Given the description of an element on the screen output the (x, y) to click on. 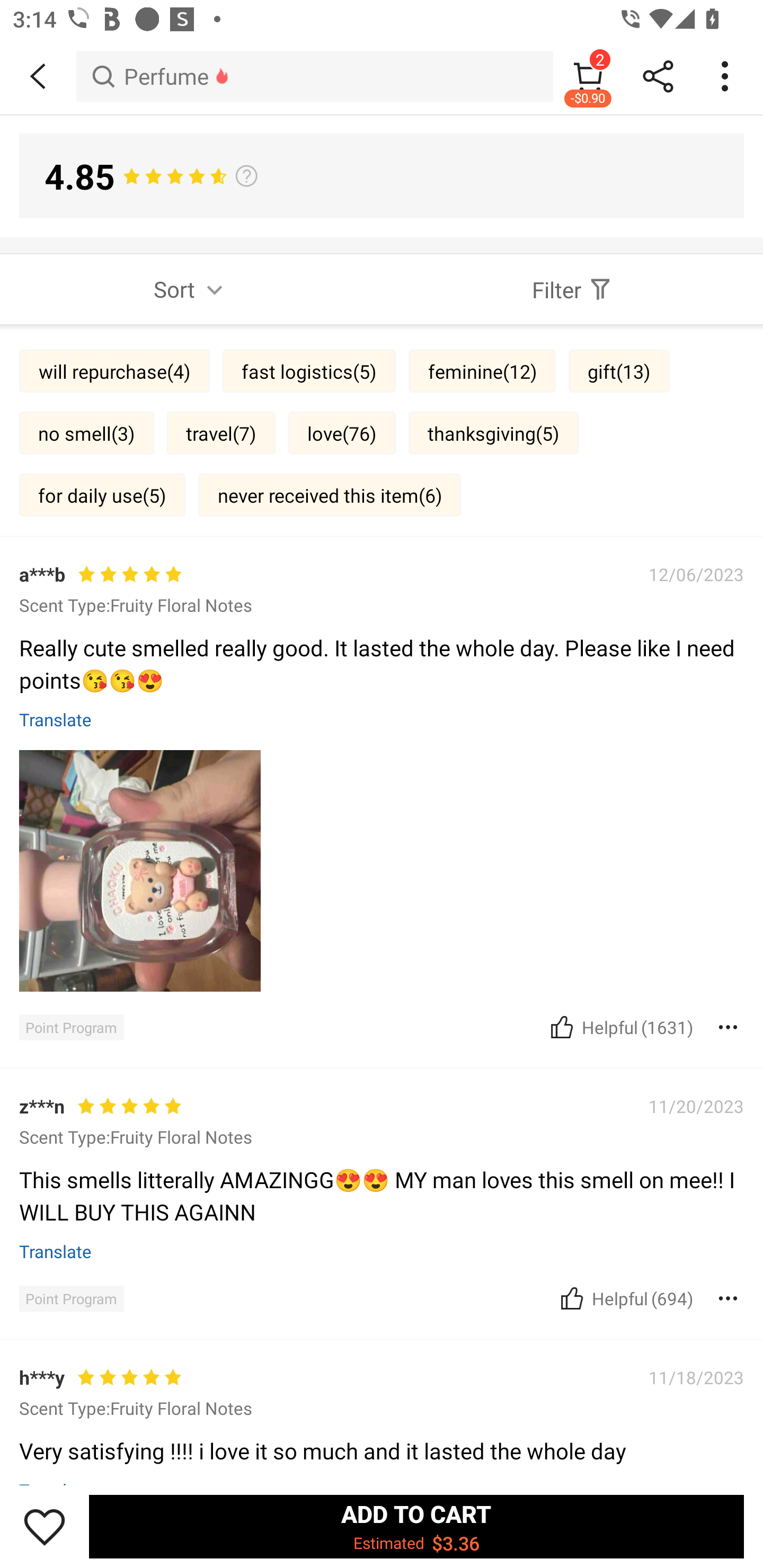
BACK (38, 75)
2 -$0.90 (588, 75)
Perfume (314, 75)
Sort (190, 289)
Filter (572, 289)
will repurchase(4) (114, 370)
fast logistics(5) (308, 370)
feminine(12) (481, 370)
gift(13) (618, 370)
no smell(3) (86, 432)
travel(7) (221, 432)
love(76) (341, 432)
thanksgiving(5) (493, 432)
for daily use(5) (102, 494)
never received this item(6) (329, 494)
Translate (55, 718)
Cancel Helpful Was this article helpful? (1631) (619, 1026)
Point Program (71, 1027)
Qty: 1 (381, 1125)
Translate (55, 1251)
Cancel Helpful Was this article helpful? (694) (624, 1298)
Point Program (71, 1297)
ADD TO CART Estimated   $3.36 (416, 1526)
Save (44, 1526)
